Given the description of an element on the screen output the (x, y) to click on. 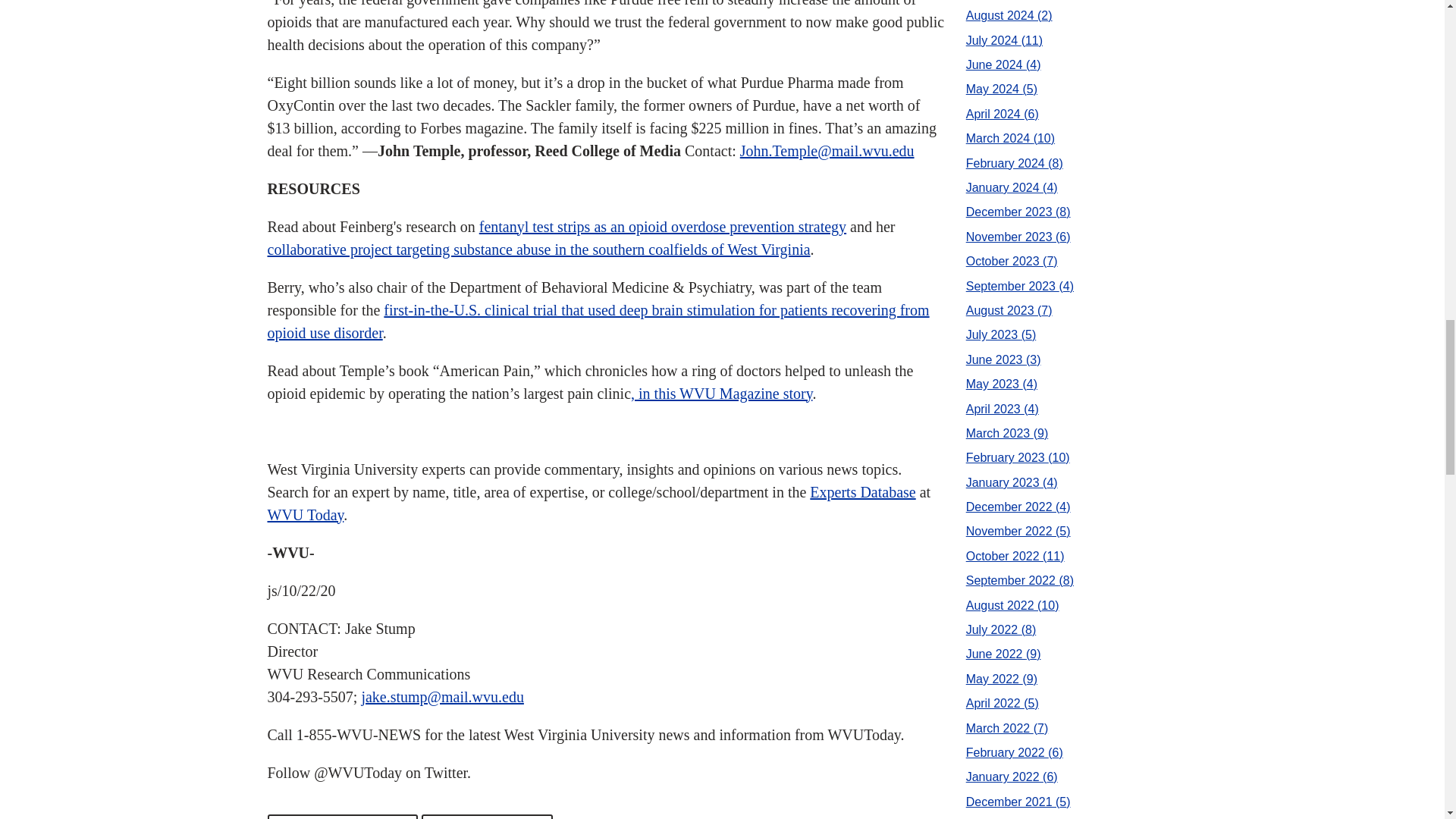
WVU Today (304, 514)
, in this WVU Magazine story (721, 393)
School of Medicine (487, 816)
Experts Database (862, 492)
Reed College of Media (341, 816)
